Given the description of an element on the screen output the (x, y) to click on. 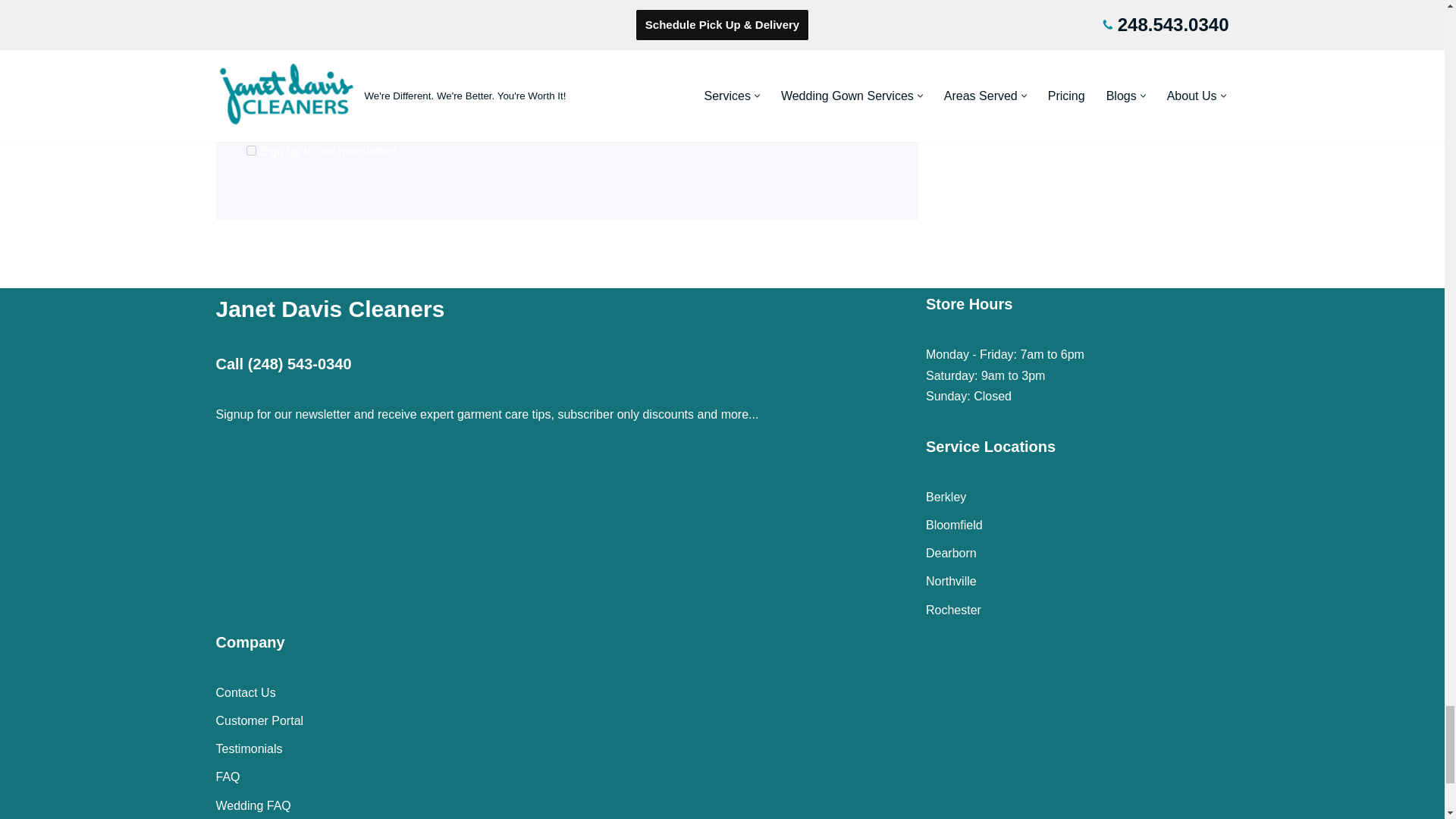
1 (251, 150)
Post Comment (316, 109)
yes (251, 66)
